Given the description of an element on the screen output the (x, y) to click on. 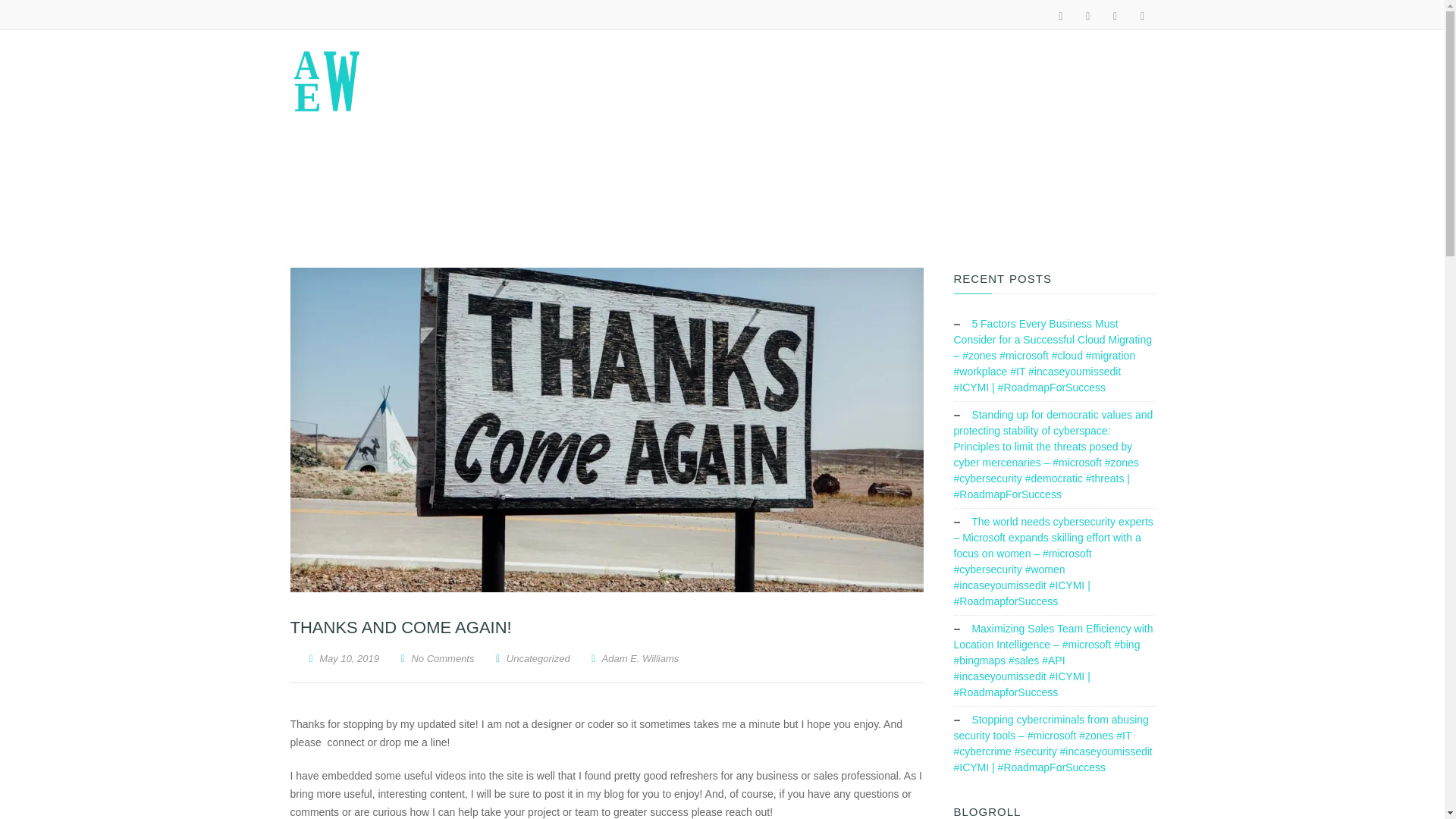
HOME (322, 185)
ABOUT (397, 185)
BLOG (634, 185)
Uncategorized (538, 658)
CONTACT ME (722, 185)
DOWNLOADS (916, 185)
Adam E. Williams (634, 658)
No Comments (442, 658)
May 10, 2019 (344, 658)
GALLERY (819, 185)
ACCOUNT (1016, 185)
SKILLS (476, 185)
CAREER (556, 185)
